Given the description of an element on the screen output the (x, y) to click on. 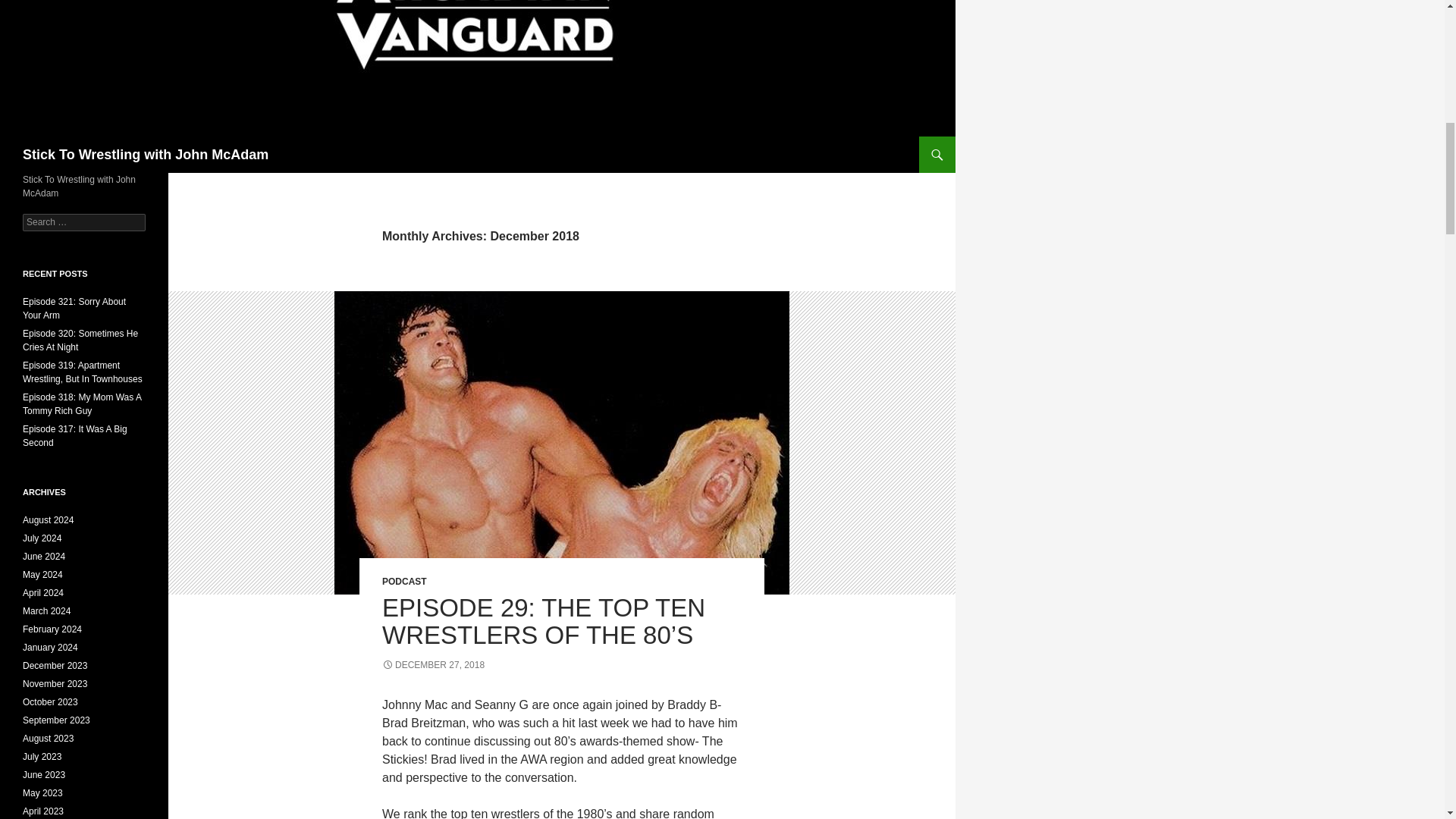
PODCAST (403, 581)
DECEMBER 27, 2018 (432, 665)
Stick To Wrestling with John McAdam (145, 154)
